Given the description of an element on the screen output the (x, y) to click on. 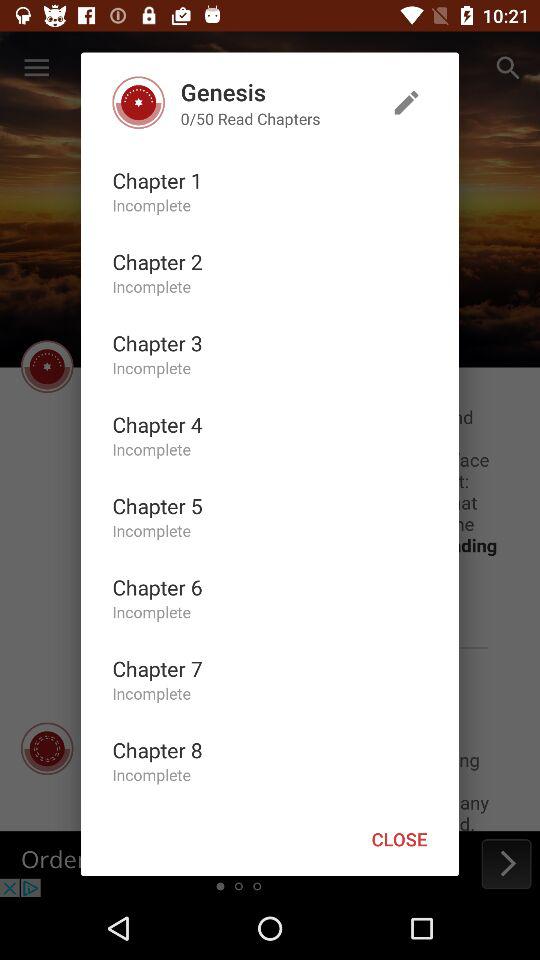
open chapter 3 item (157, 342)
